Given the description of an element on the screen output the (x, y) to click on. 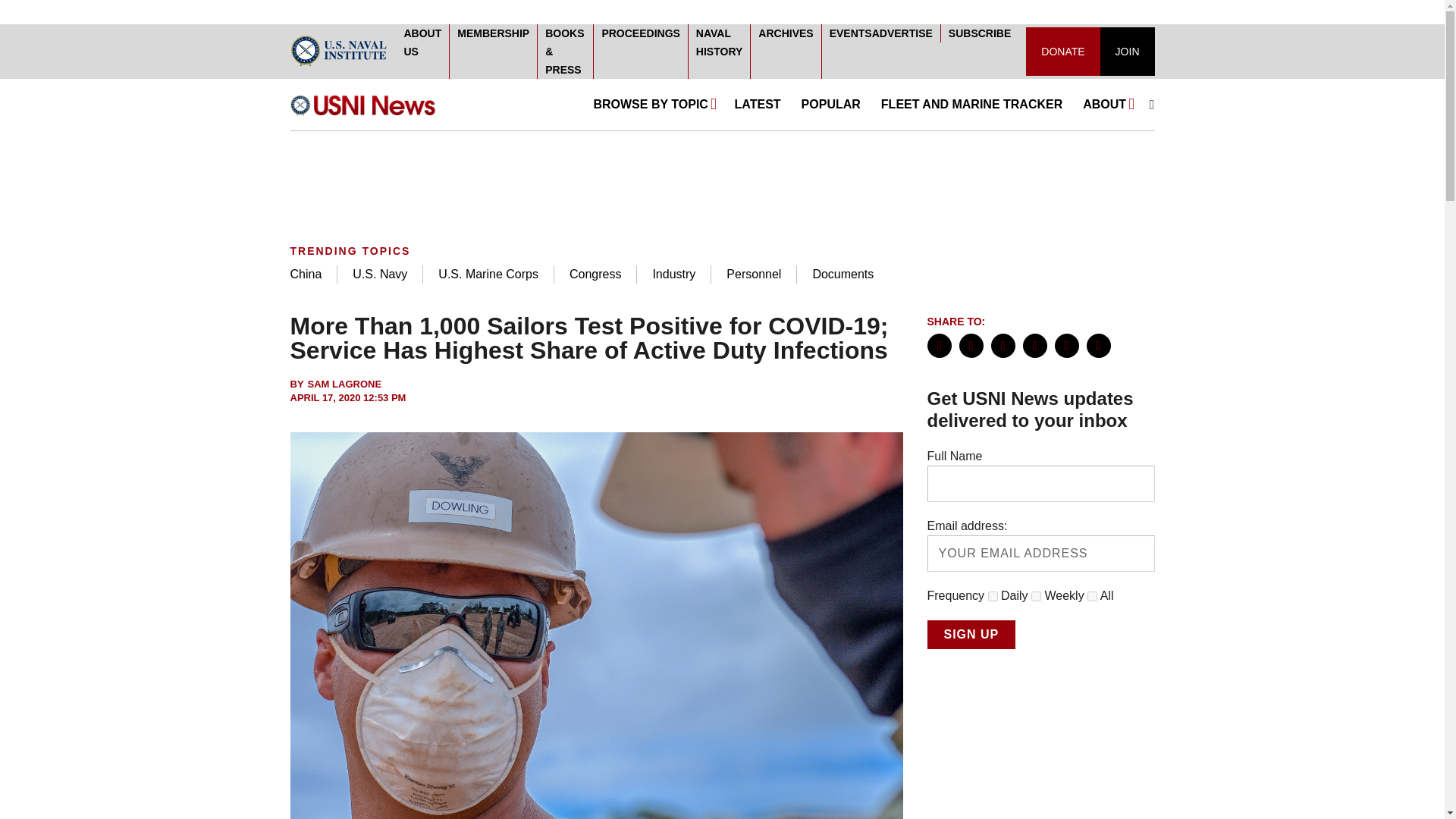
3rd party ad content (721, 180)
PROCEEDINGS (640, 33)
JOIN (1127, 51)
bf28bbb352 (1035, 596)
3rd party ad content (1040, 749)
ARCHIVES (785, 33)
DONATE (1062, 51)
SUBSCRIBE (979, 33)
ADVERTISE (902, 33)
EVENTS (850, 33)
a4211728d9 (1092, 596)
BROWSE BY TOPIC (654, 104)
ABOUT US (422, 42)
MEMBERSHIP (493, 33)
Sign up (970, 634)
